Given the description of an element on the screen output the (x, y) to click on. 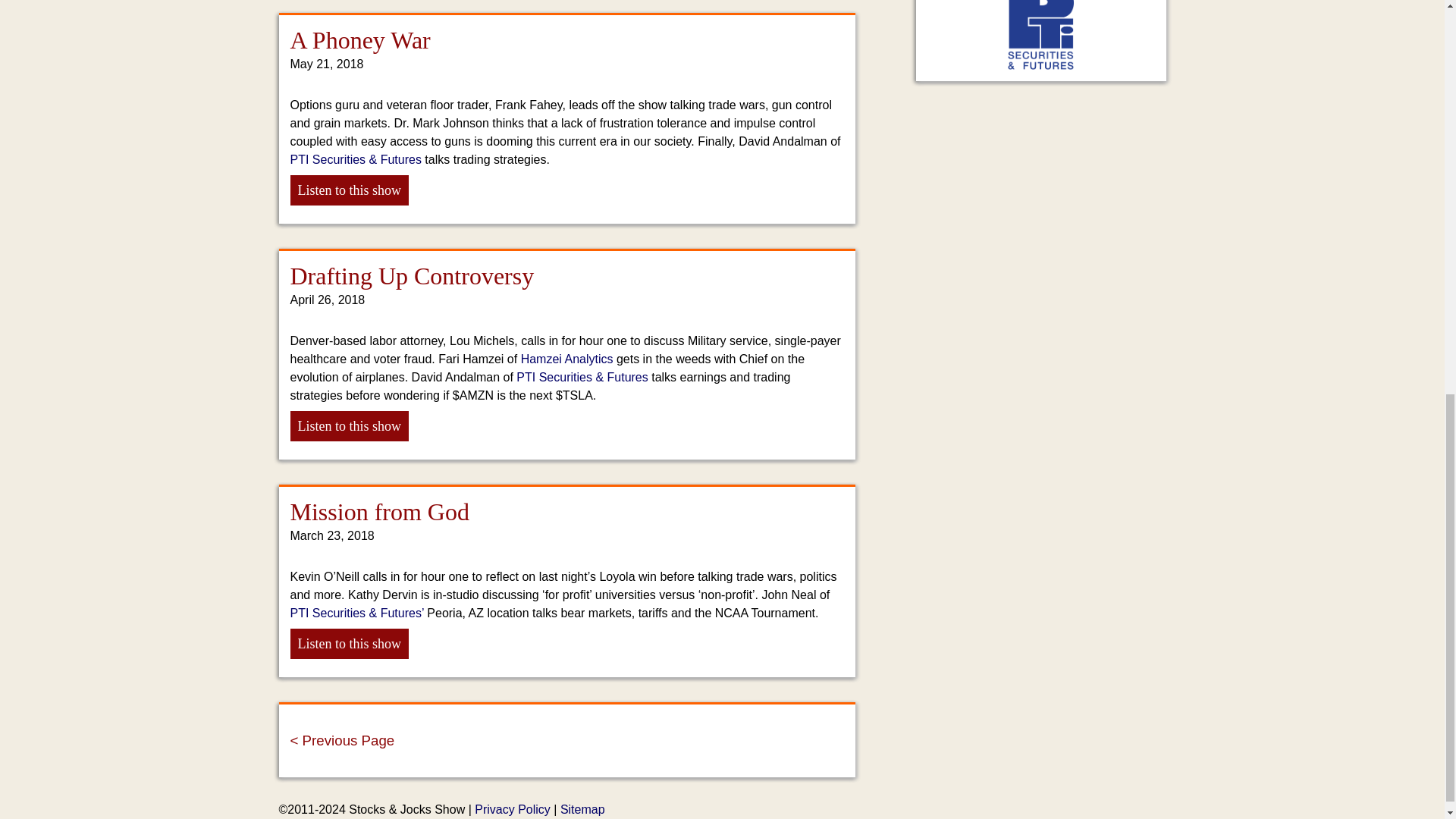
A Phoney War (359, 40)
Listen to this show (349, 190)
Listen to this show (349, 426)
Hamzei Analytics (566, 358)
Listen to this show (349, 643)
Drafting Up Controversy (411, 275)
Mission from God (378, 511)
